Given the description of an element on the screen output the (x, y) to click on. 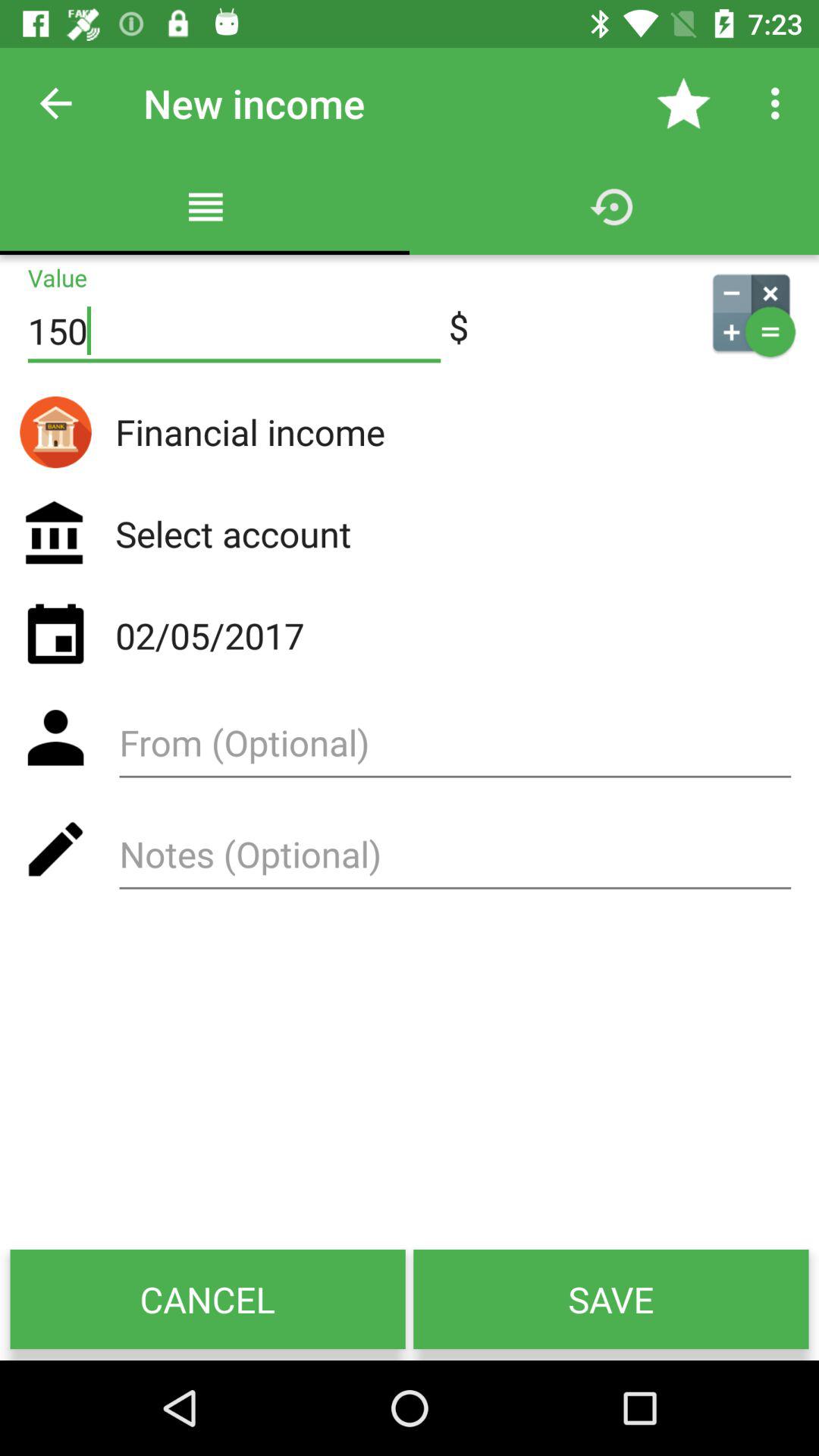
open calculator (751, 312)
